Given the description of an element on the screen output the (x, y) to click on. 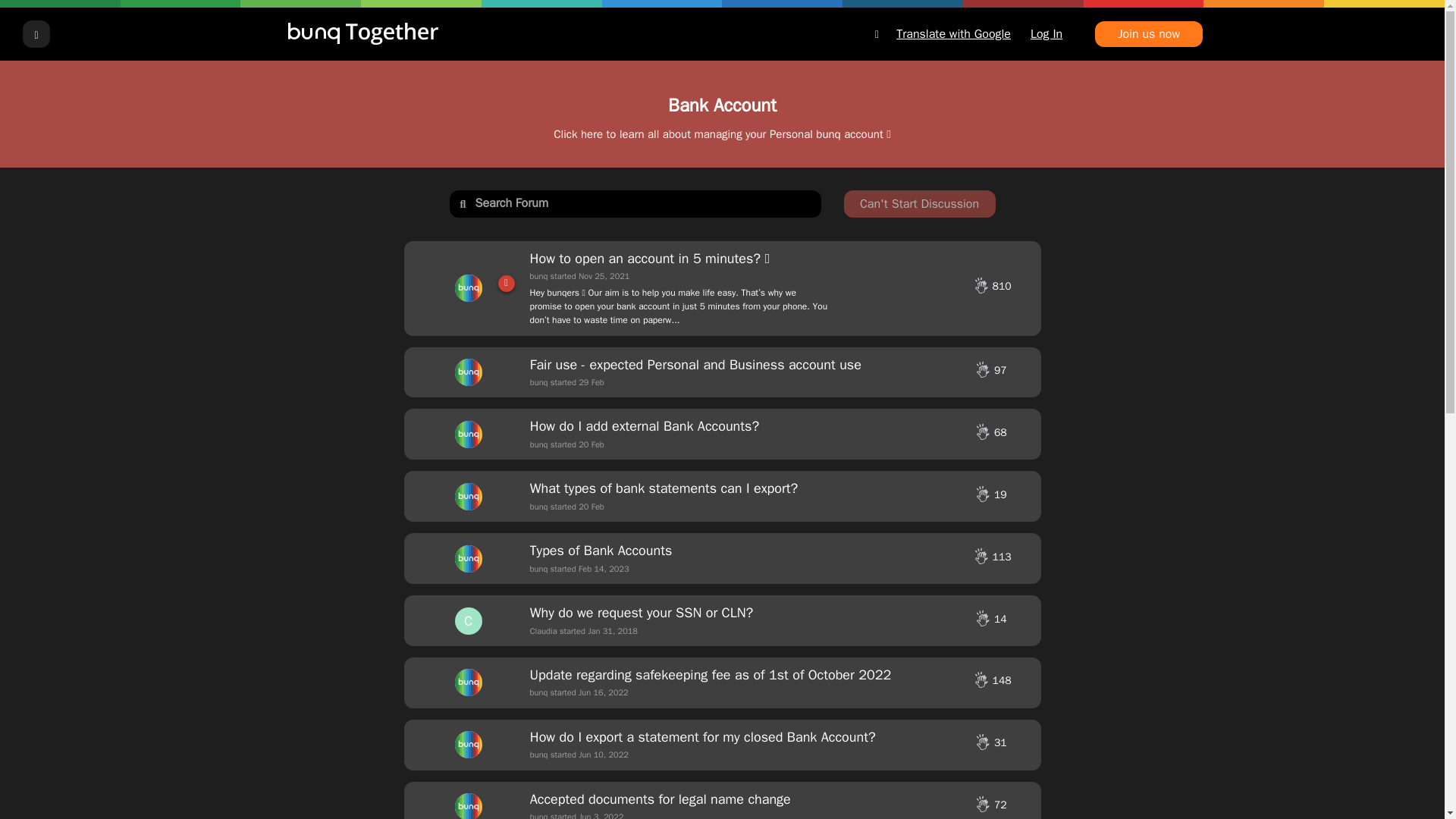
Back to Discussion List (36, 33)
C (467, 620)
Can't Start Discussion (918, 203)
68 (990, 434)
19 (990, 496)
Log In (1045, 33)
113 (989, 558)
Can't Start Discussion (918, 203)
Thursday, February 29, 2024 10:08 PM (591, 381)
Thursday, November 25, 2021 10:50 PM (603, 276)
97 (990, 372)
14 (990, 621)
Translate with Google (942, 33)
